Given the description of an element on the screen output the (x, y) to click on. 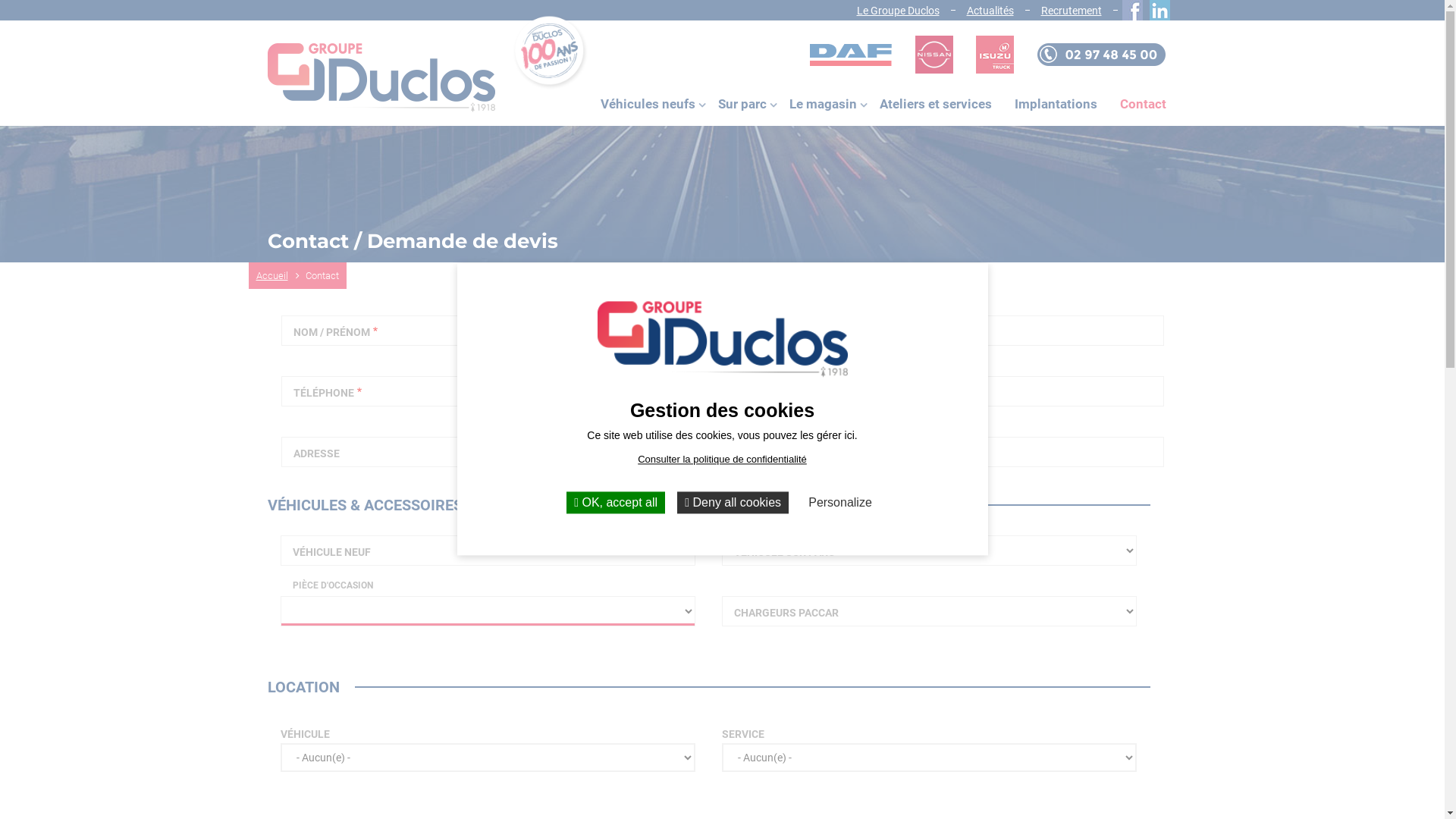
Aller au contenu principal Element type: text (0, 0)
OK, accept all Element type: text (615, 502)
Le Groupe Duclos Element type: text (898, 10)
Personalize Element type: text (839, 502)
Facebook Element type: text (1128, 10)
Deny all cookies Element type: text (732, 502)
Ateliers et services Element type: text (934, 104)
Linkedin Element type: text (1155, 10)
Recrutement Element type: text (1070, 10)
Implantations Element type: text (1054, 104)
Accueil Element type: text (279, 275)
Contact Element type: text (1142, 104)
